Given the description of an element on the screen output the (x, y) to click on. 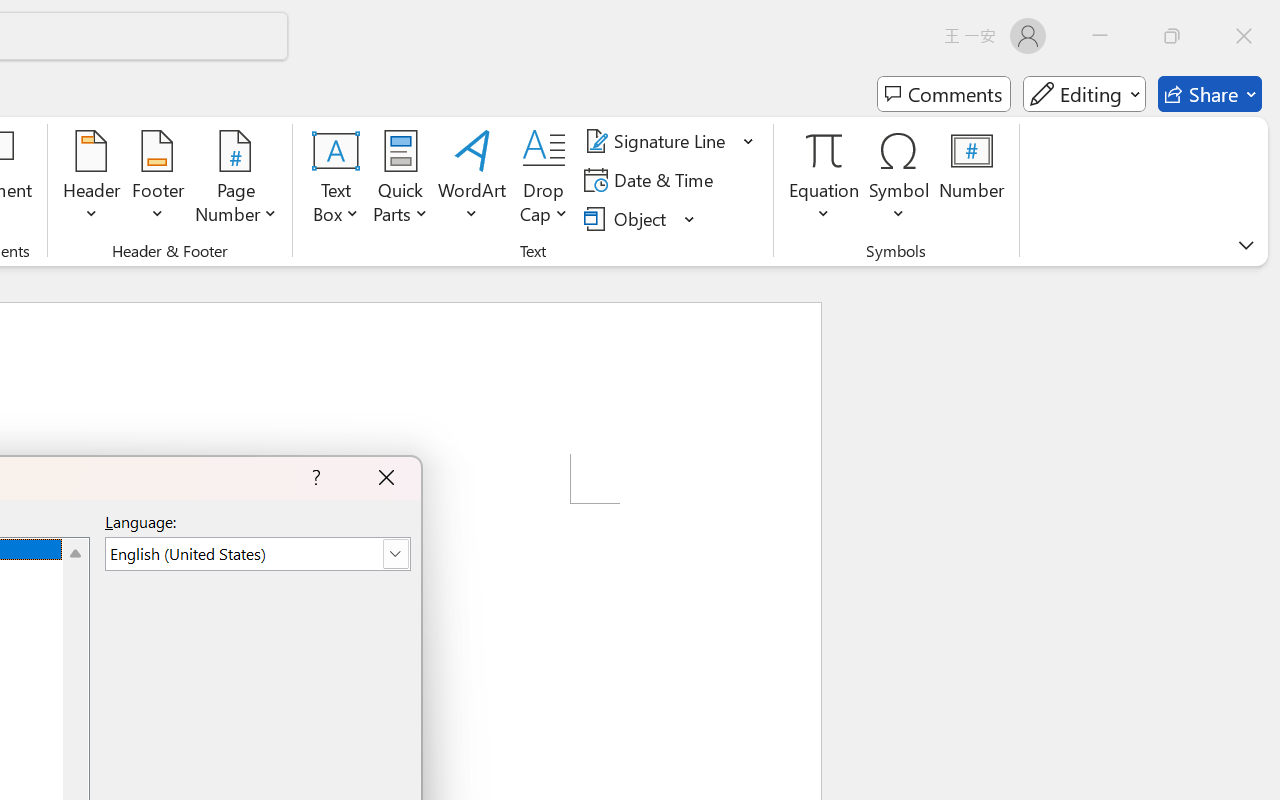
Czech (1030, 455)
